Given the description of an element on the screen output the (x, y) to click on. 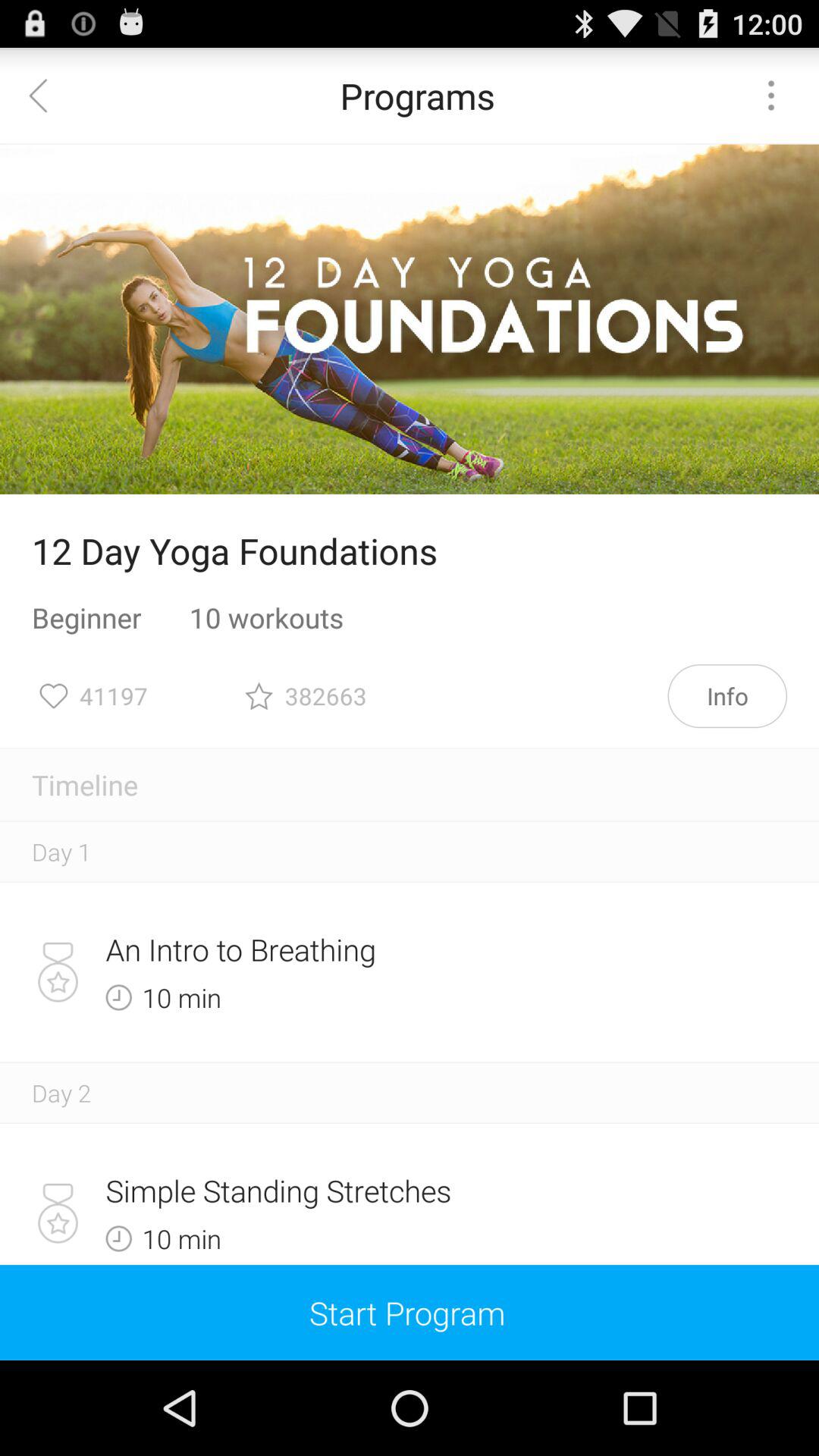
view more options (771, 95)
